Given the description of an element on the screen output the (x, y) to click on. 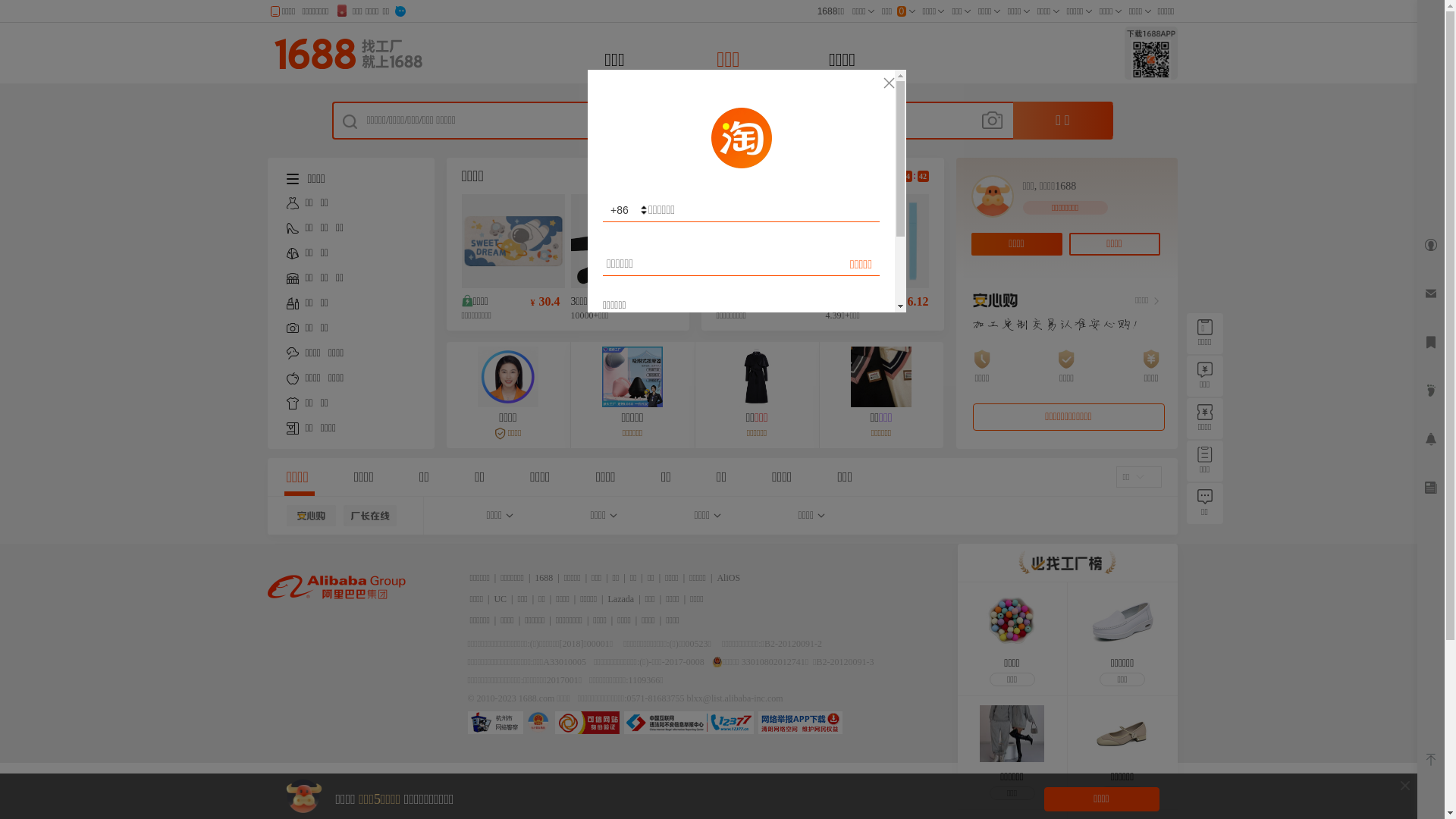
Lazada Element type: text (621, 598)
AliOS Element type: text (728, 577)
UC Element type: text (499, 598)
1688 Element type: text (543, 577)
